Given the description of an element on the screen output the (x, y) to click on. 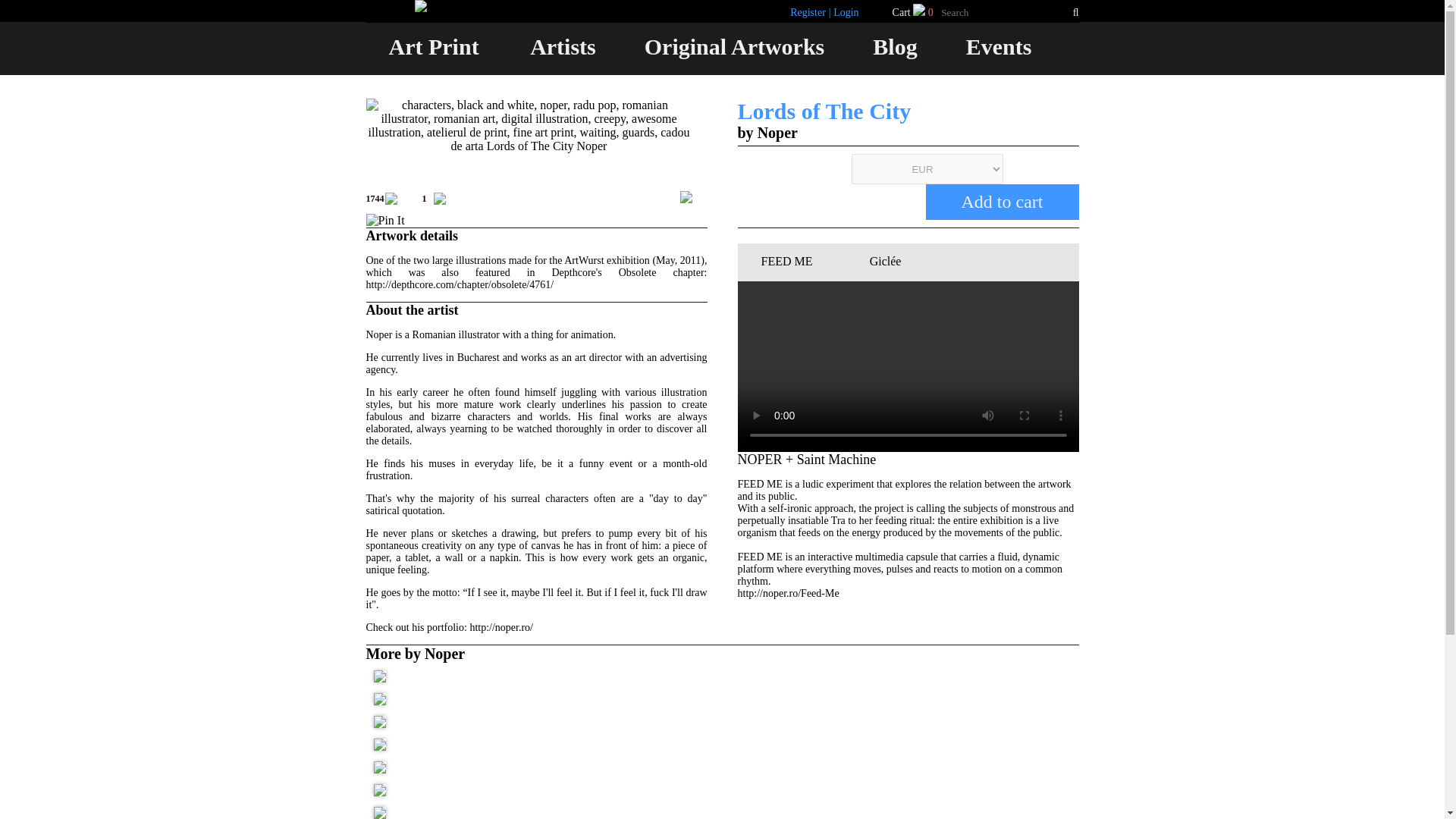
Blog (894, 46)
Register (135, 412)
Pin It (384, 220)
Original Artworks (735, 46)
Artists (562, 46)
Art Print (433, 46)
Noper (777, 132)
Add to cart (1001, 202)
Events (999, 46)
Cart 0 (914, 12)
